Given the description of an element on the screen output the (x, y) to click on. 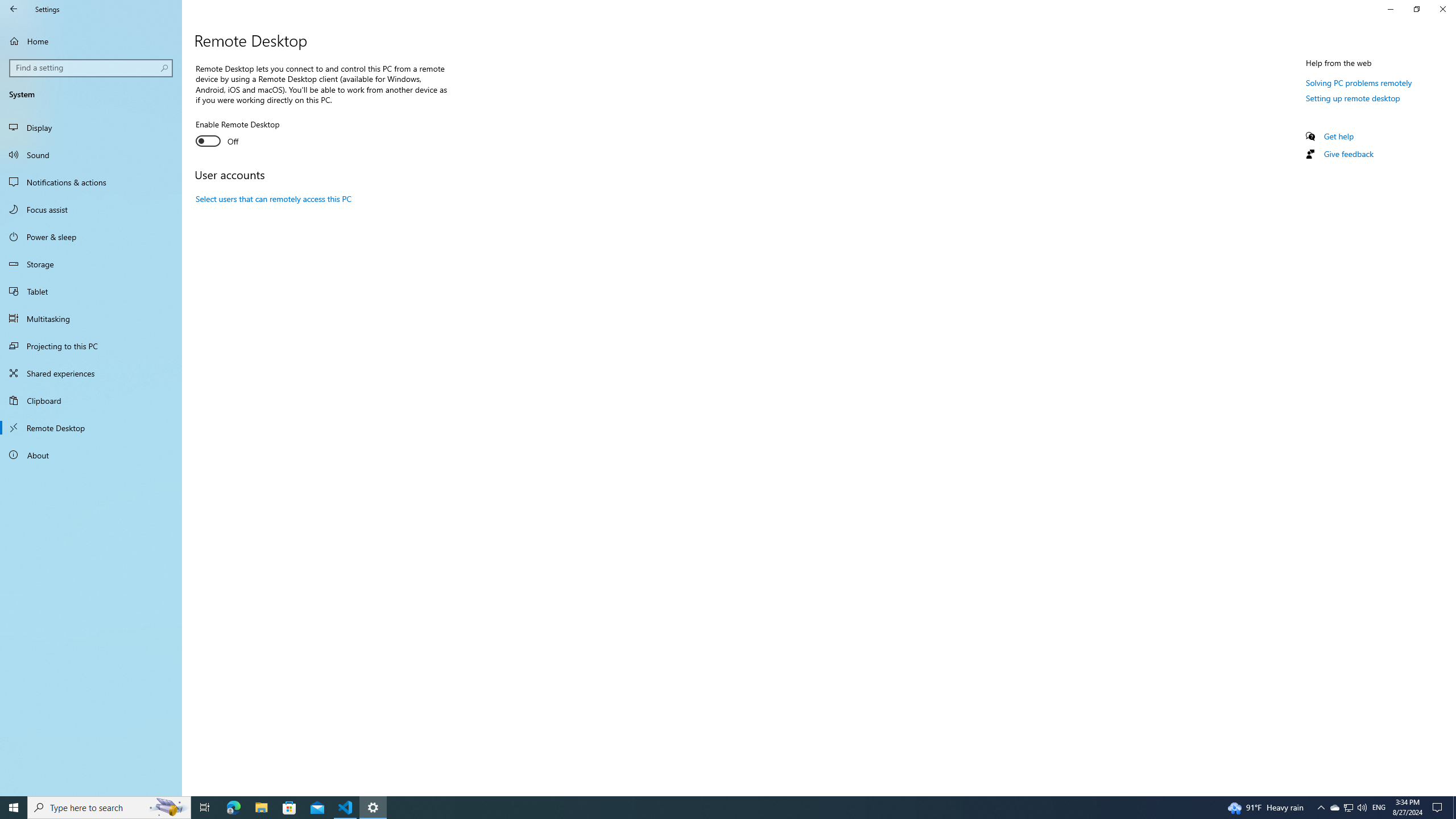
Search box, Find a setting (91, 67)
